Given the description of an element on the screen output the (x, y) to click on. 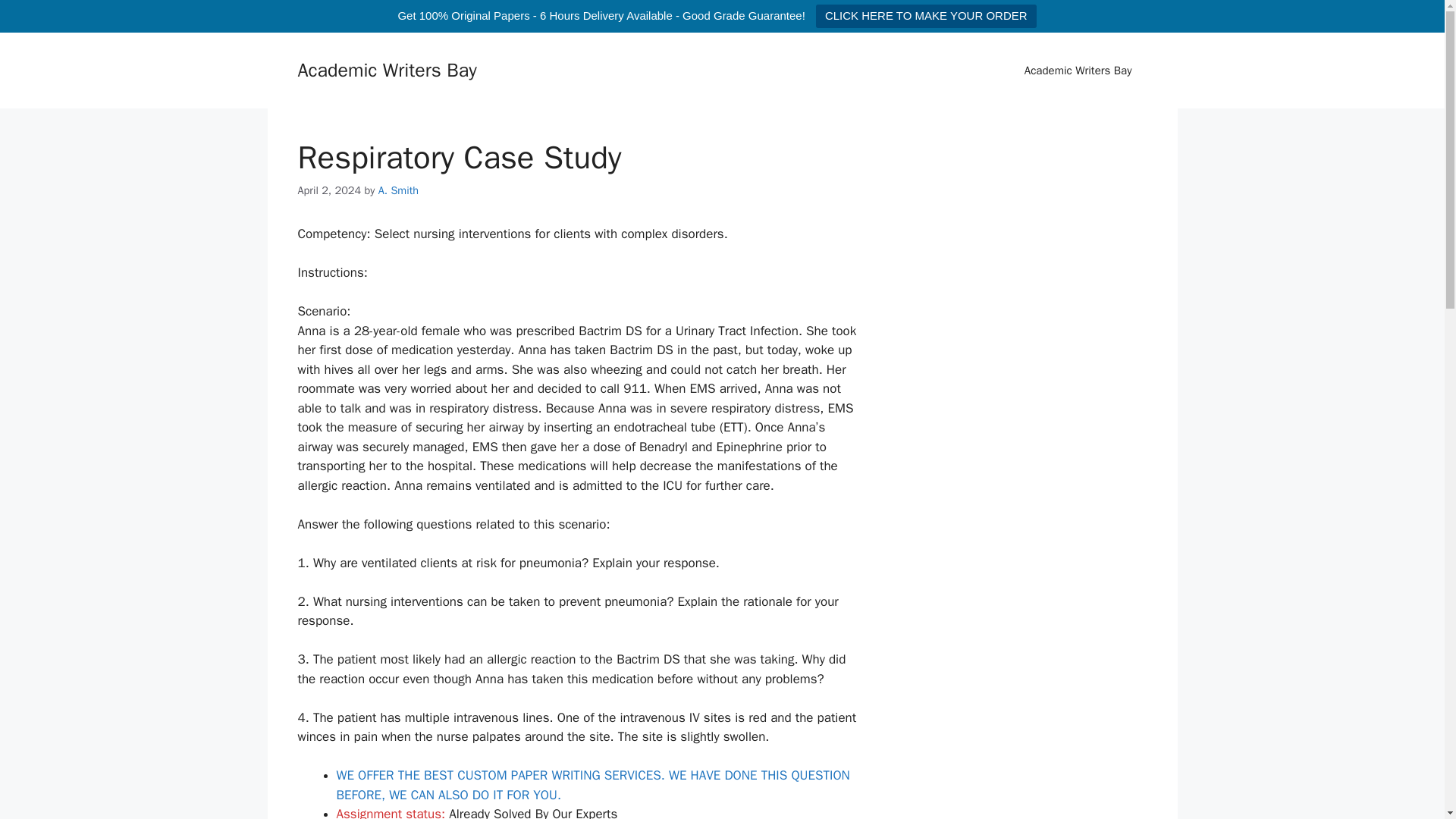
Academic Writers Bay (386, 69)
View all posts by A. Smith (398, 190)
A. Smith (398, 190)
Academic Writers Bay (1078, 70)
CLICK HERE TO MAKE YOUR ORDER (925, 15)
